Given the description of an element on the screen output the (x, y) to click on. 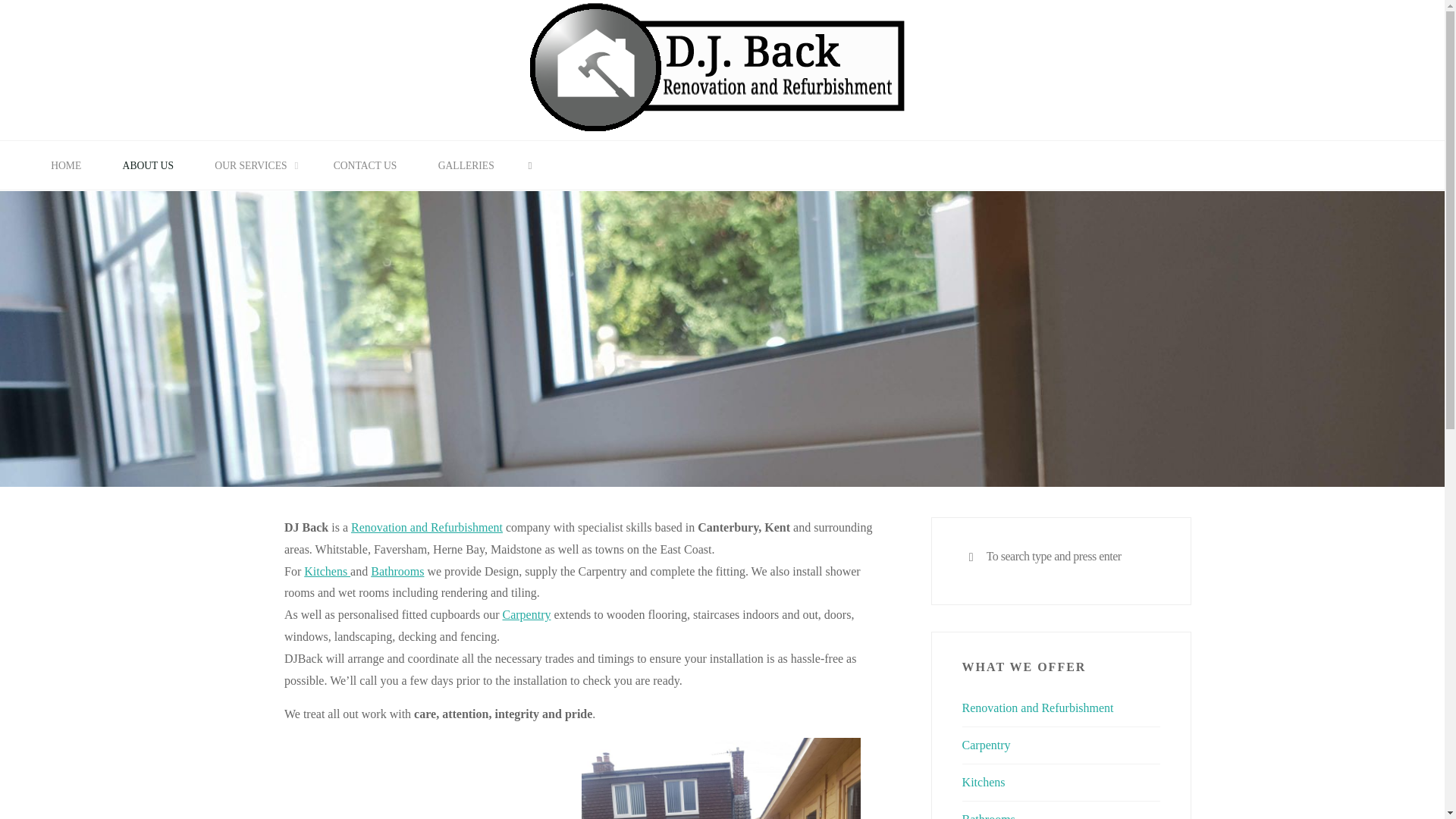
HOME (65, 165)
Bathrooms (397, 571)
Carpentry (526, 614)
GALLERIES (466, 165)
D.J. Back. (721, 68)
Renovation and Refurbishment (426, 526)
Renovation and Refurbishment (1037, 707)
OUR SERVICES (253, 165)
CONTACT US (365, 165)
ABOUT US (147, 165)
